Given the description of an element on the screen output the (x, y) to click on. 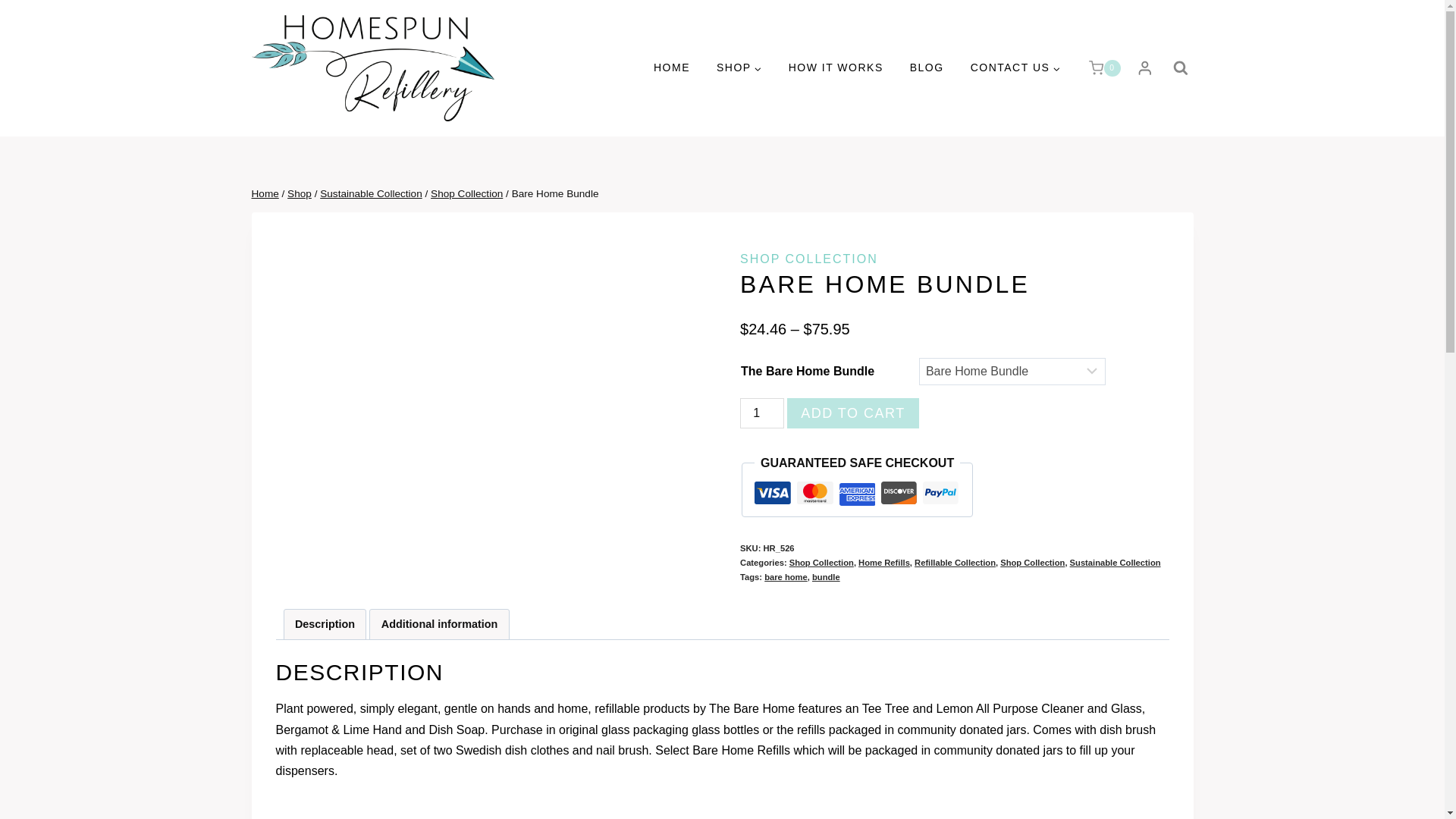
Shop (298, 193)
Home (265, 193)
CONTACT US (1015, 68)
Shop Collection (466, 193)
BLOG (926, 68)
SHOP (738, 68)
HOME (671, 68)
1 (761, 413)
Sustainable Collection (371, 193)
0 (1101, 67)
